Given the description of an element on the screen output the (x, y) to click on. 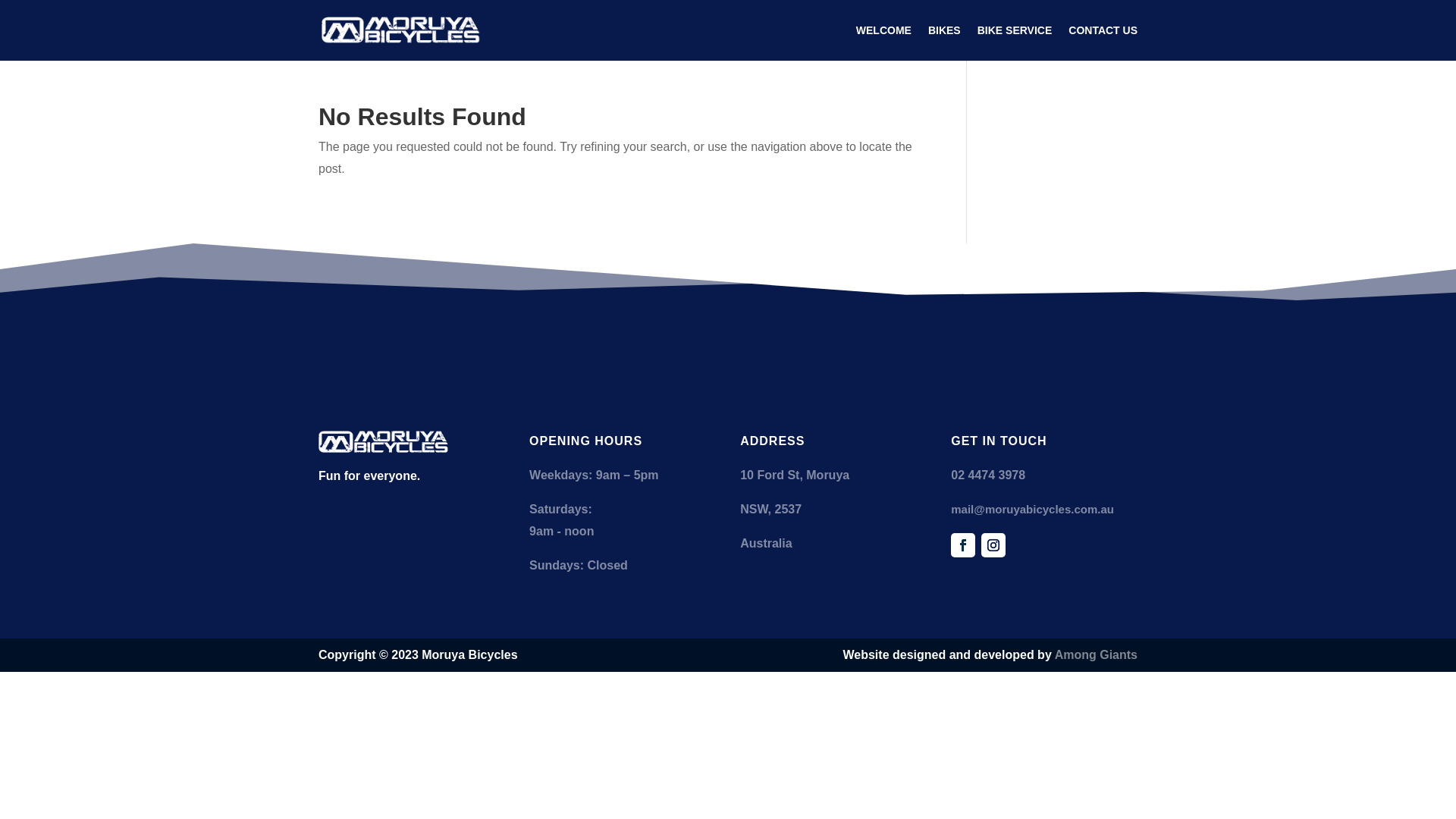
Among Giants Element type: text (1095, 654)
mail@moruyabicycles.com.au Element type: text (1031, 508)
BIKE SERVICE Element type: text (1014, 42)
Follow on Instagram Element type: hover (993, 545)
BIKES Element type: text (944, 42)
WELCOME Element type: text (883, 42)
MORUYA-BICYCLES-WHITE-SMALL Element type: hover (383, 441)
CONTACT US Element type: text (1102, 42)
Follow on Facebook Element type: hover (962, 545)
